Given the description of an element on the screen output the (x, y) to click on. 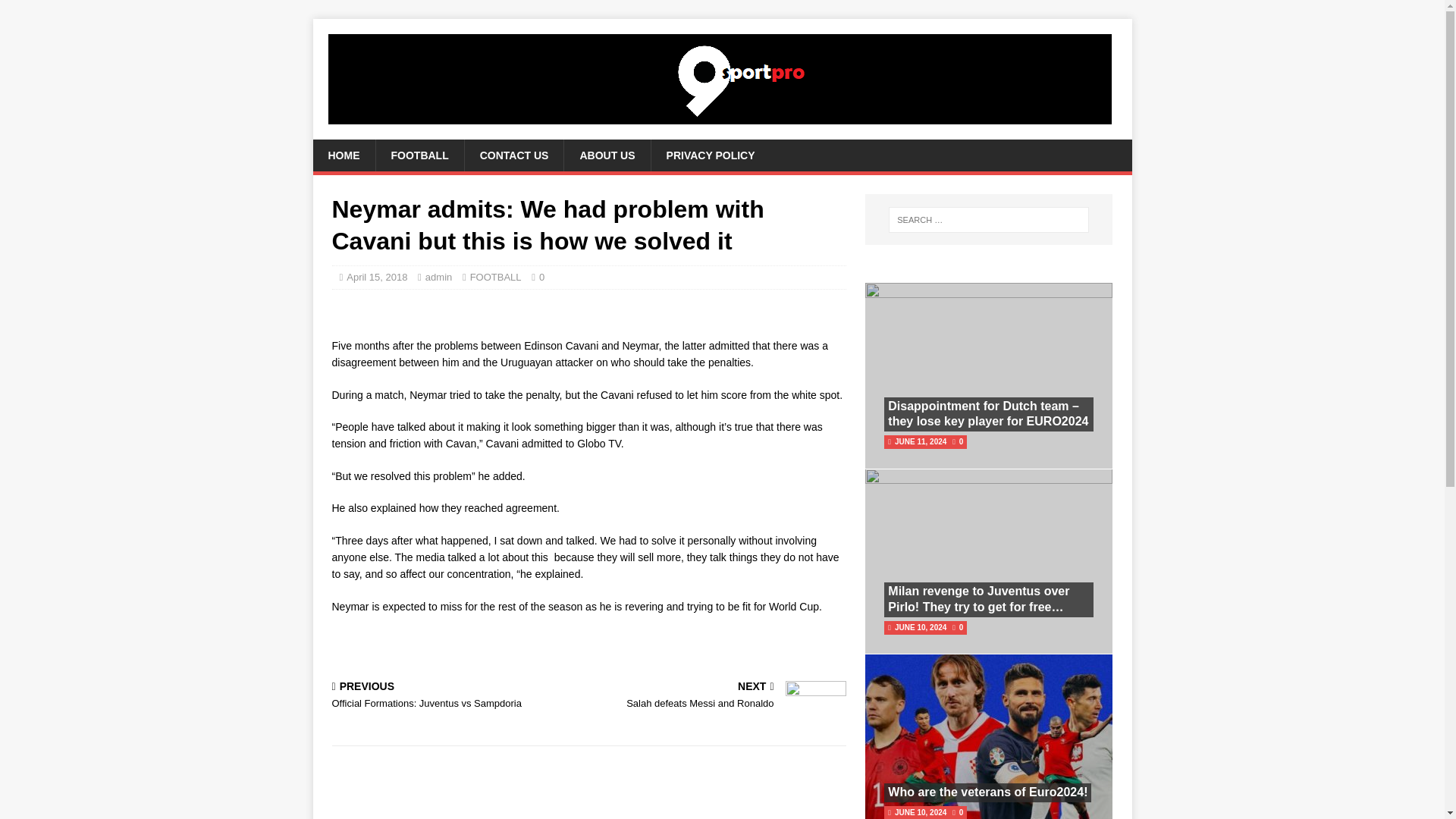
FOOTBALL (495, 276)
Who are the veterans of Euro2024! (987, 791)
Who are the veterans of Euro2024! (457, 695)
April 15, 2018 (987, 791)
ABOUT US (376, 276)
FOOTBALL (606, 155)
PRIVACY POLICY (418, 155)
HOME (720, 695)
CONTACT US (710, 155)
admin (343, 155)
Search (514, 155)
